Given the description of an element on the screen output the (x, y) to click on. 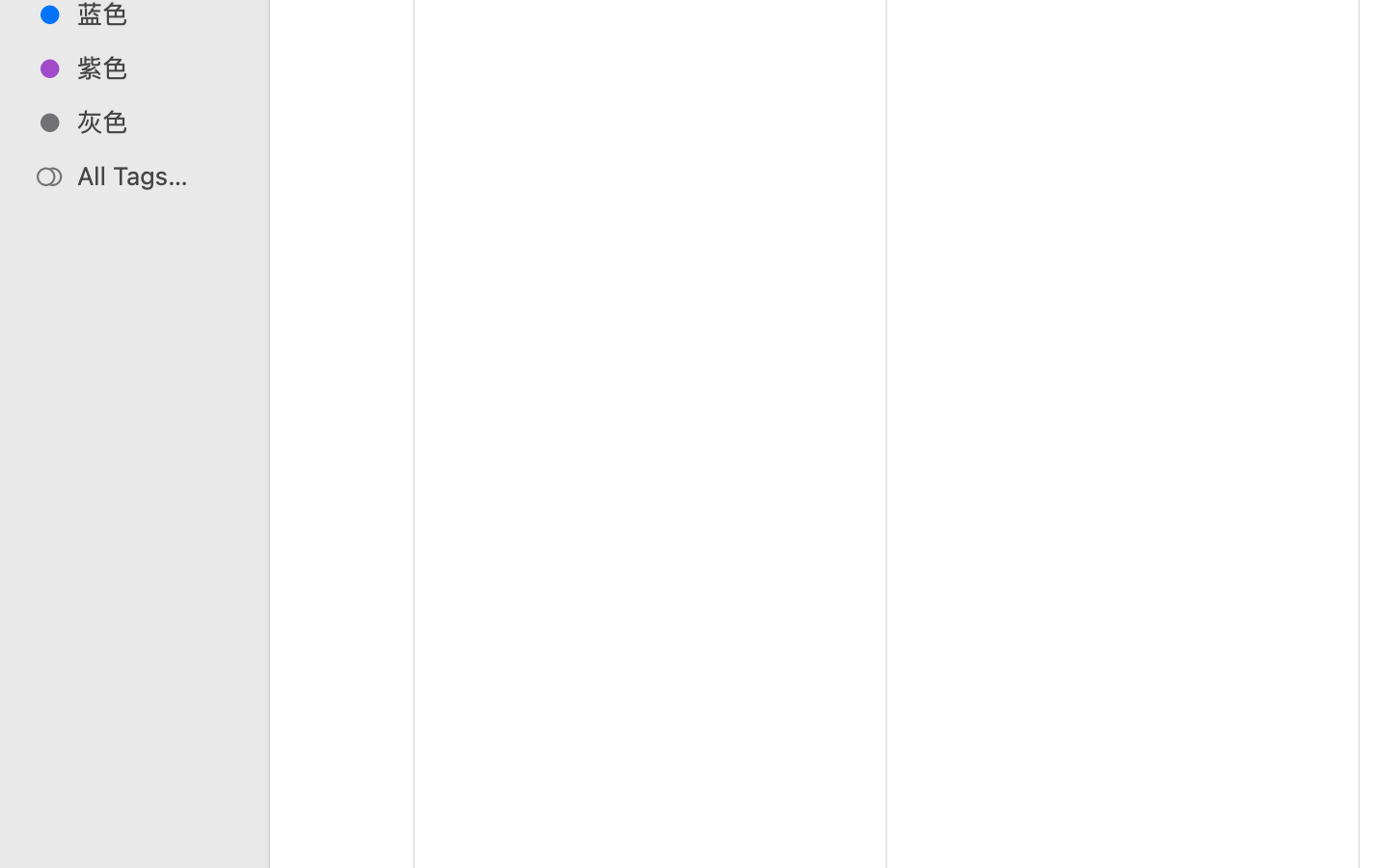
紫色 Element type: AXStaticText (155, 67)
